Given the description of an element on the screen output the (x, y) to click on. 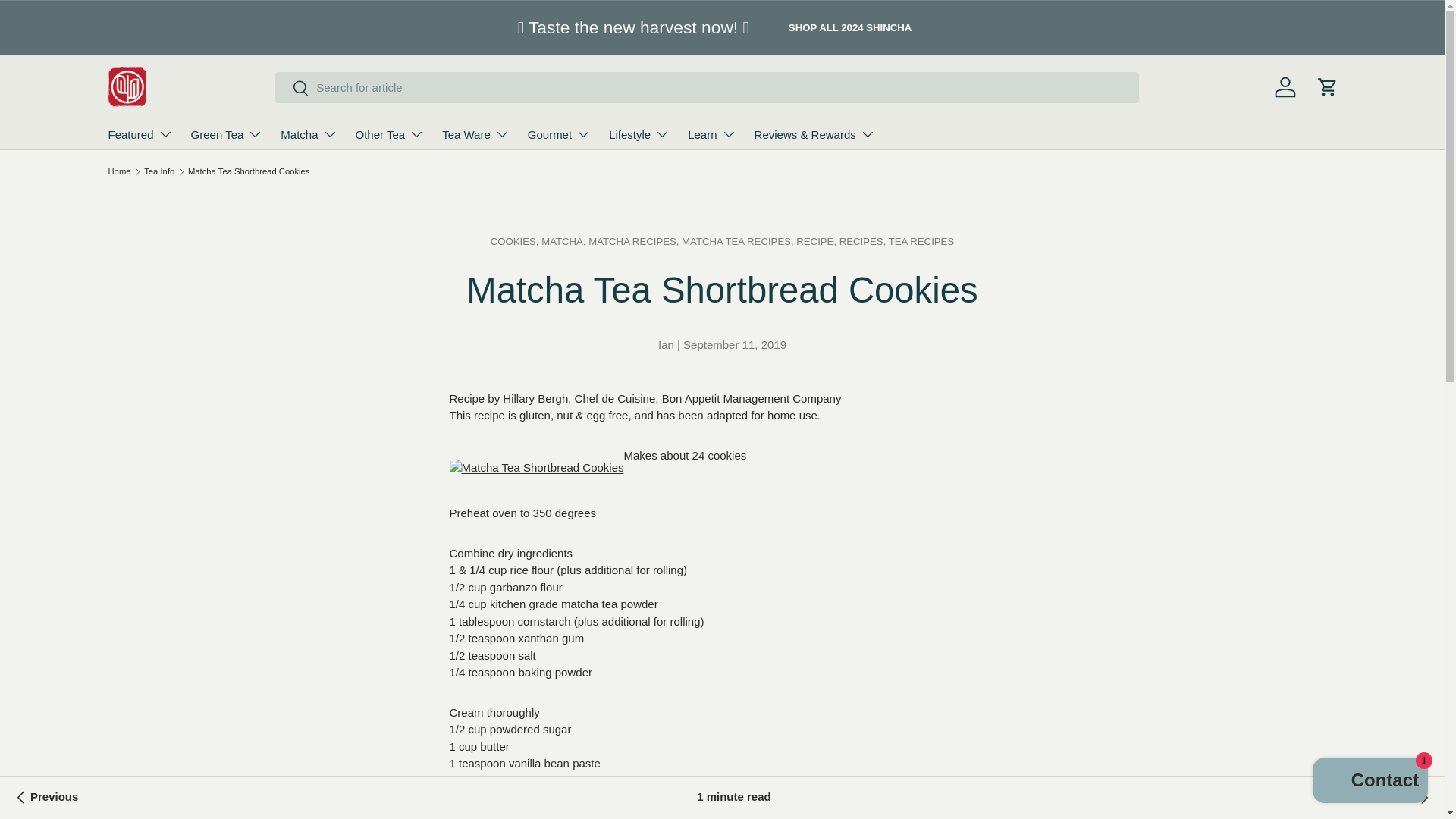
Shopify online store chat (1369, 781)
SHOP ALL 2024 SHINCHA (849, 27)
Log in (1284, 87)
Hojicha Roasted Green Tea Pudding Recipe (44, 797)
Cart (1326, 87)
Featured (139, 133)
SKIP TO CONTENT (63, 23)
Search (291, 89)
Green Tea (226, 133)
Moroccan Mint Tea (1410, 797)
Matcha tea powder (573, 603)
